Given the description of an element on the screen output the (x, y) to click on. 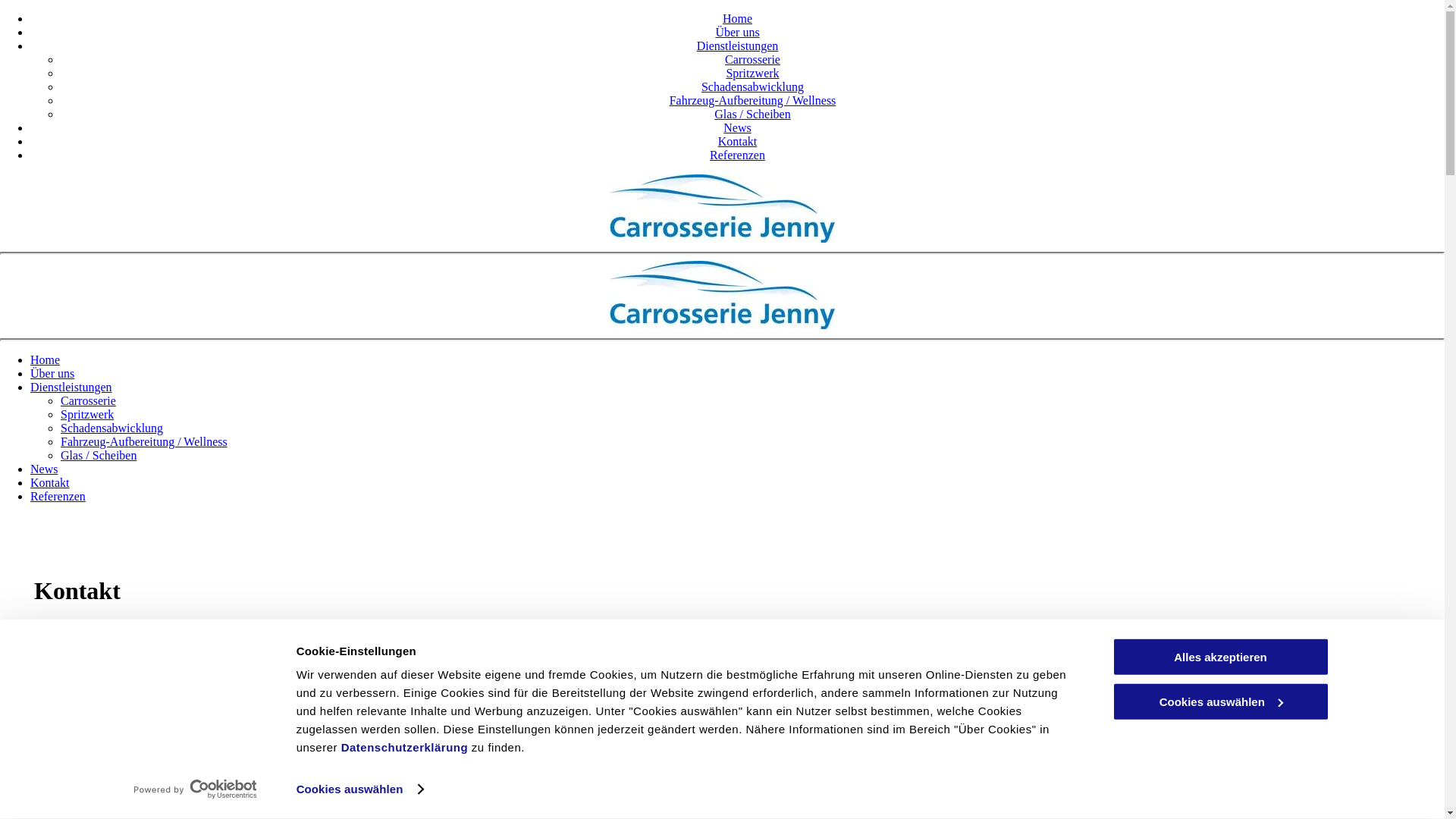
Referenzen Element type: text (737, 154)
News Element type: text (736, 127)
Carrosserie Element type: text (88, 400)
Alles akzeptieren Element type: text (1219, 656)
News Element type: text (43, 468)
Schadensabwicklung Element type: text (752, 86)
Spritzwerk Element type: text (86, 413)
Home Element type: text (44, 359)
Dienstleistungen Element type: text (737, 45)
Schadensabwicklung Element type: text (111, 427)
Referenzen Element type: text (57, 495)
Glas / Scheiben Element type: text (98, 454)
Carrosserie Element type: text (752, 59)
Fahrzeug-Aufbereitung / Wellness Element type: text (143, 441)
Spritzwerk Element type: text (751, 72)
Glas / Scheiben Element type: text (752, 113)
Home Element type: text (737, 18)
Fahrzeug-Aufbereitung / Wellness Element type: text (752, 100)
Kontakt Element type: text (737, 140)
Kontakt Element type: text (49, 482)
Dienstleistungen Element type: text (71, 386)
